Given the description of an element on the screen output the (x, y) to click on. 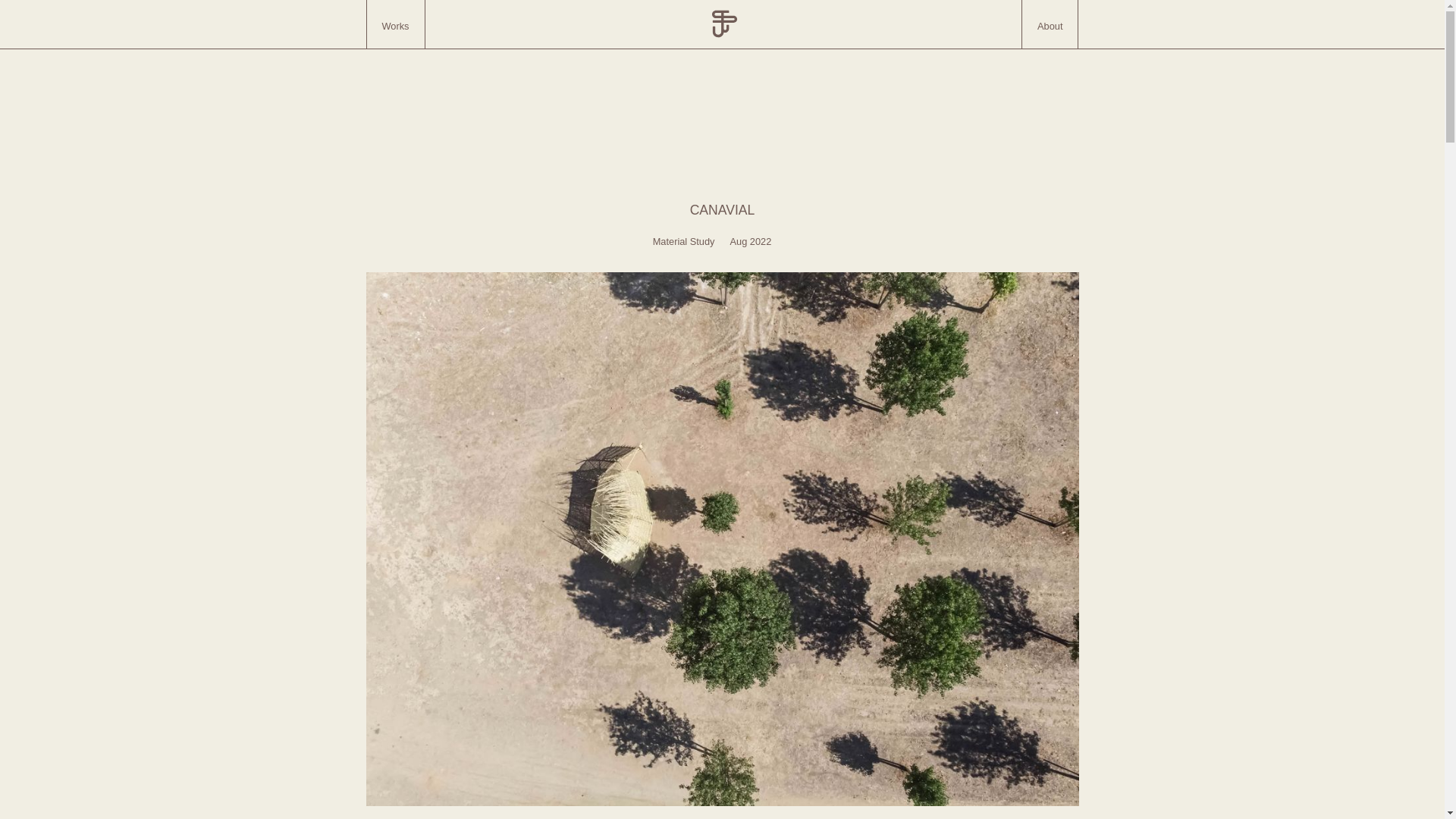
About (1050, 24)
Works (395, 24)
